Given the description of an element on the screen output the (x, y) to click on. 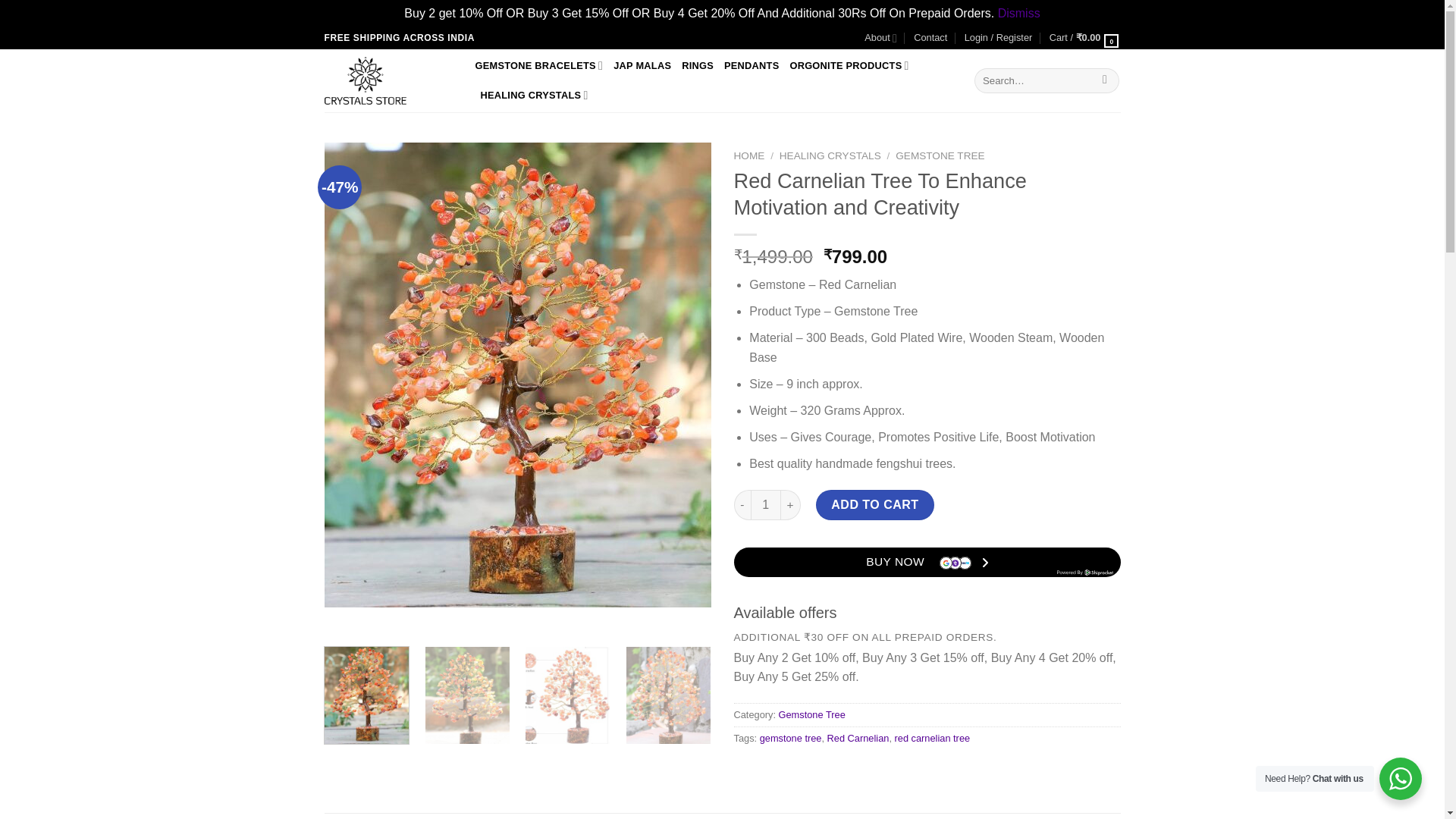
Dismiss (1019, 12)
GEMSTONE BRACELETS (538, 65)
Contact (930, 37)
About (880, 38)
1 (765, 504)
PENDANTS (750, 65)
RINGS (697, 65)
HEALING CRYSTALS (534, 94)
Cart (1085, 37)
Crystals Store (388, 80)
ORGONITE PRODUCTS (848, 65)
JAP MALAS (641, 65)
